Given the description of an element on the screen output the (x, y) to click on. 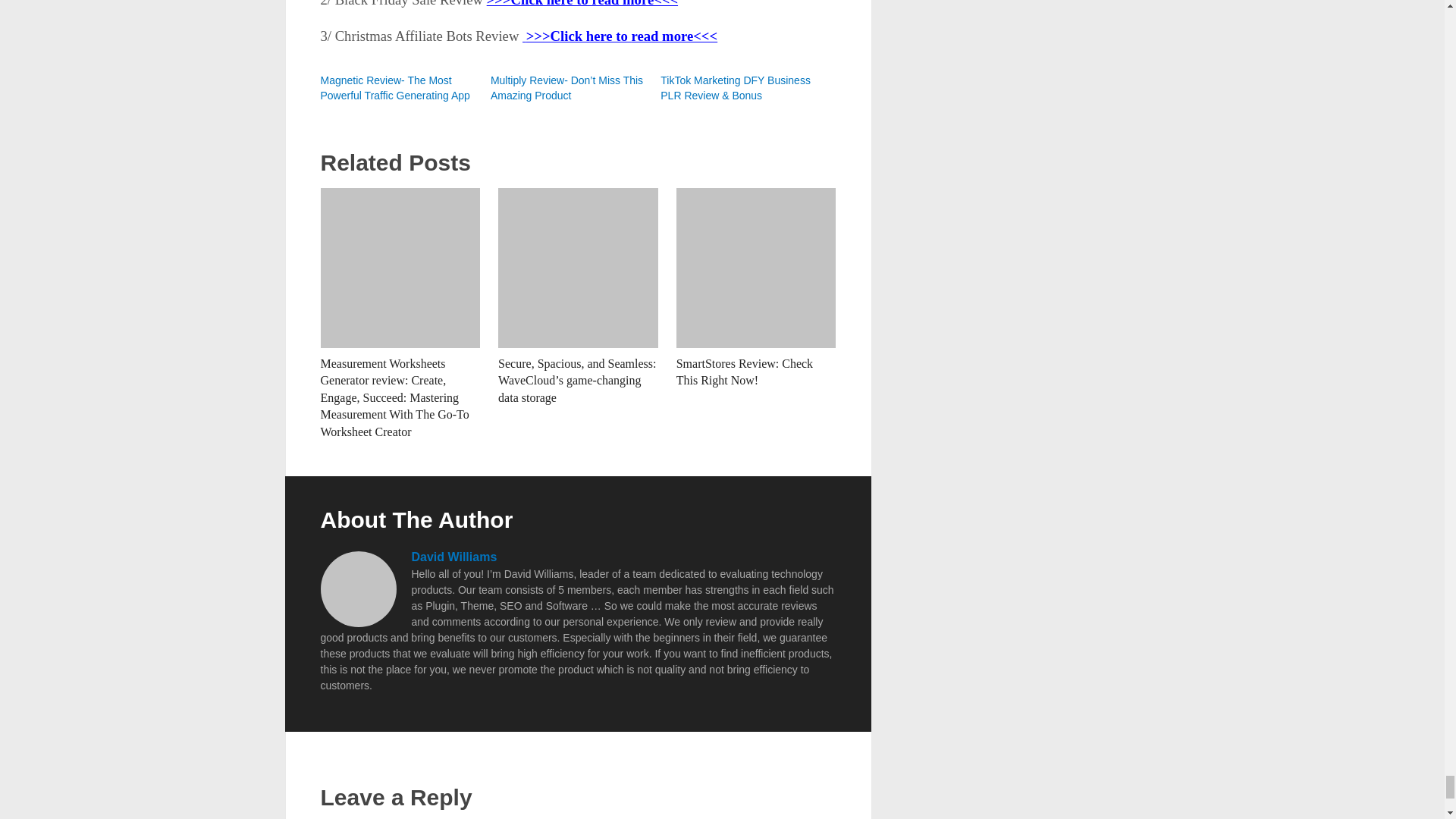
Magnetic Review- The Most Powerful Traffic Generating App (394, 87)
